Given the description of an element on the screen output the (x, y) to click on. 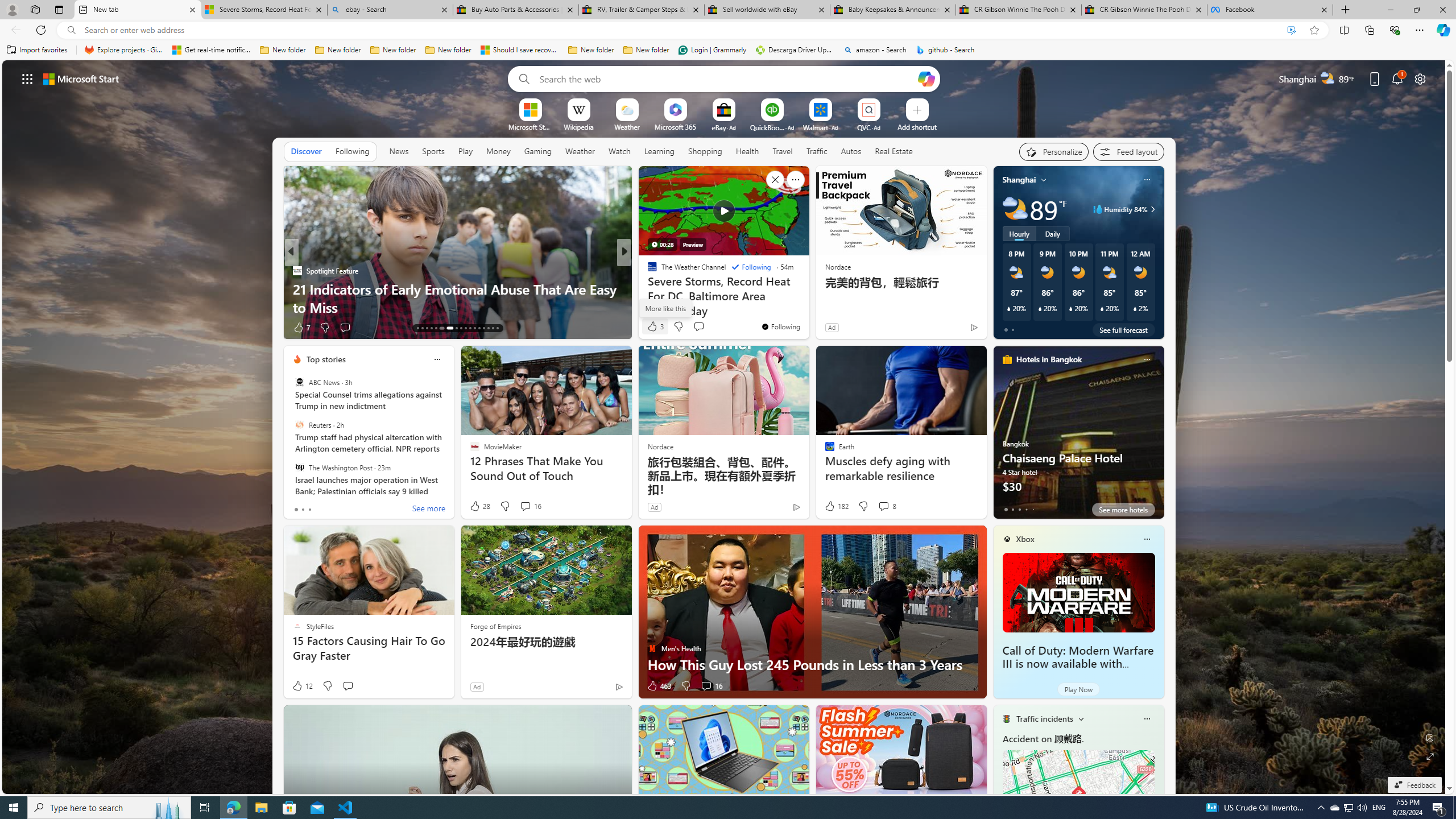
Favorites bar (728, 49)
Enter your search term (726, 78)
Wikipedia (578, 126)
View comments 8 Comment (887, 505)
AutomationID: tab-18 (440, 328)
